Given the description of an element on the screen output the (x, y) to click on. 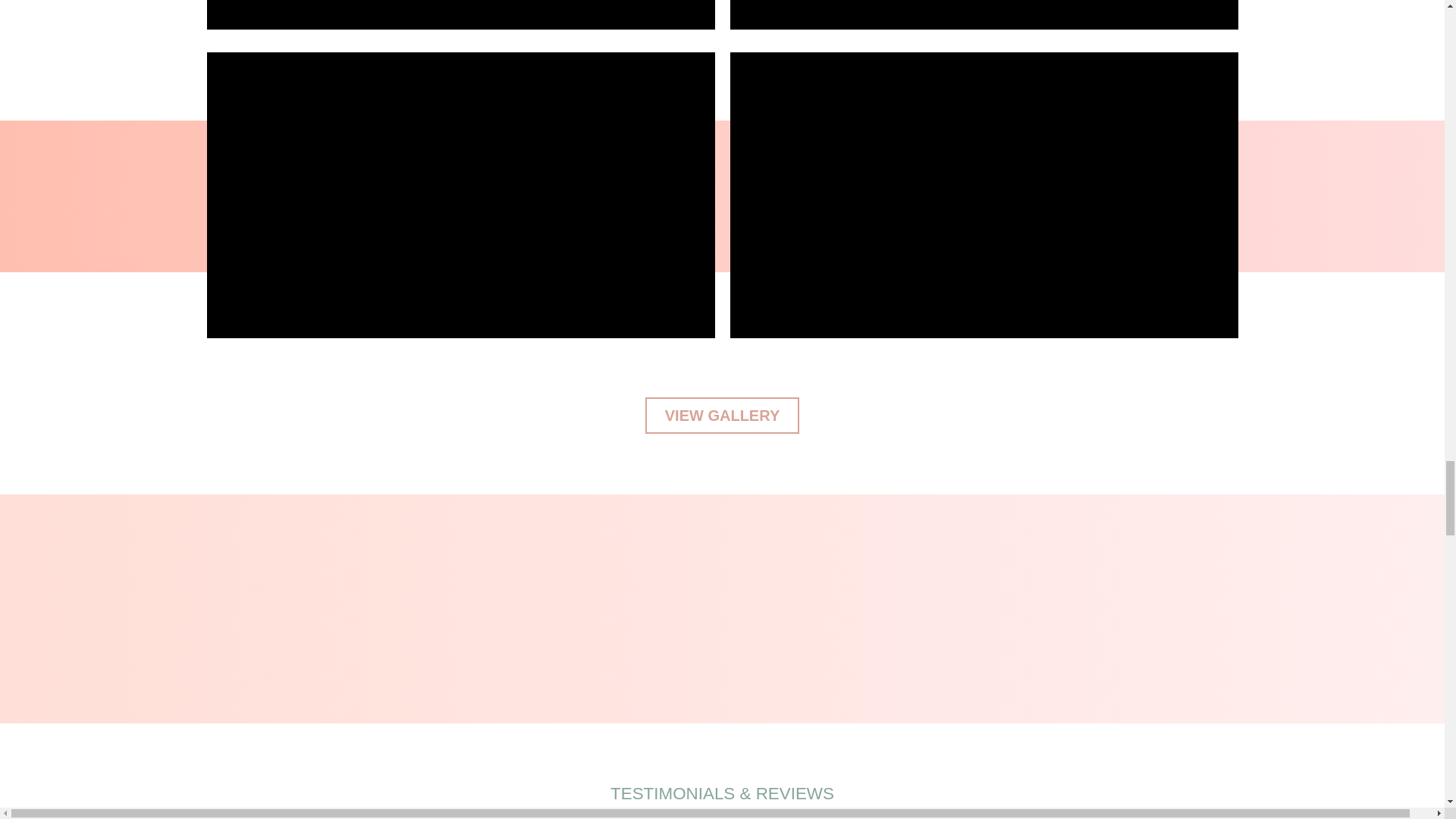
vimeo Video Player (460, 14)
vimeo Video Player (983, 14)
